Given the description of an element on the screen output the (x, y) to click on. 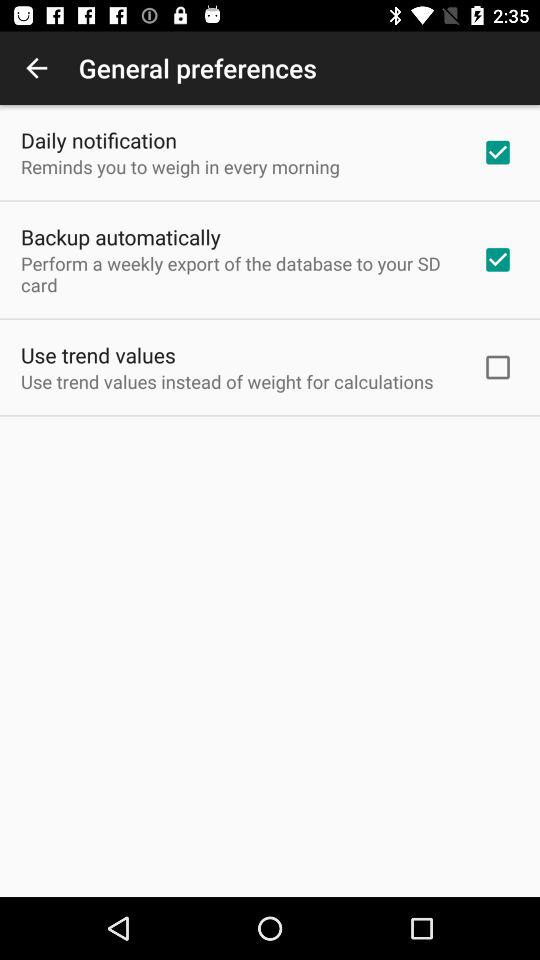
turn off app above use trend values icon (238, 274)
